Given the description of an element on the screen output the (x, y) to click on. 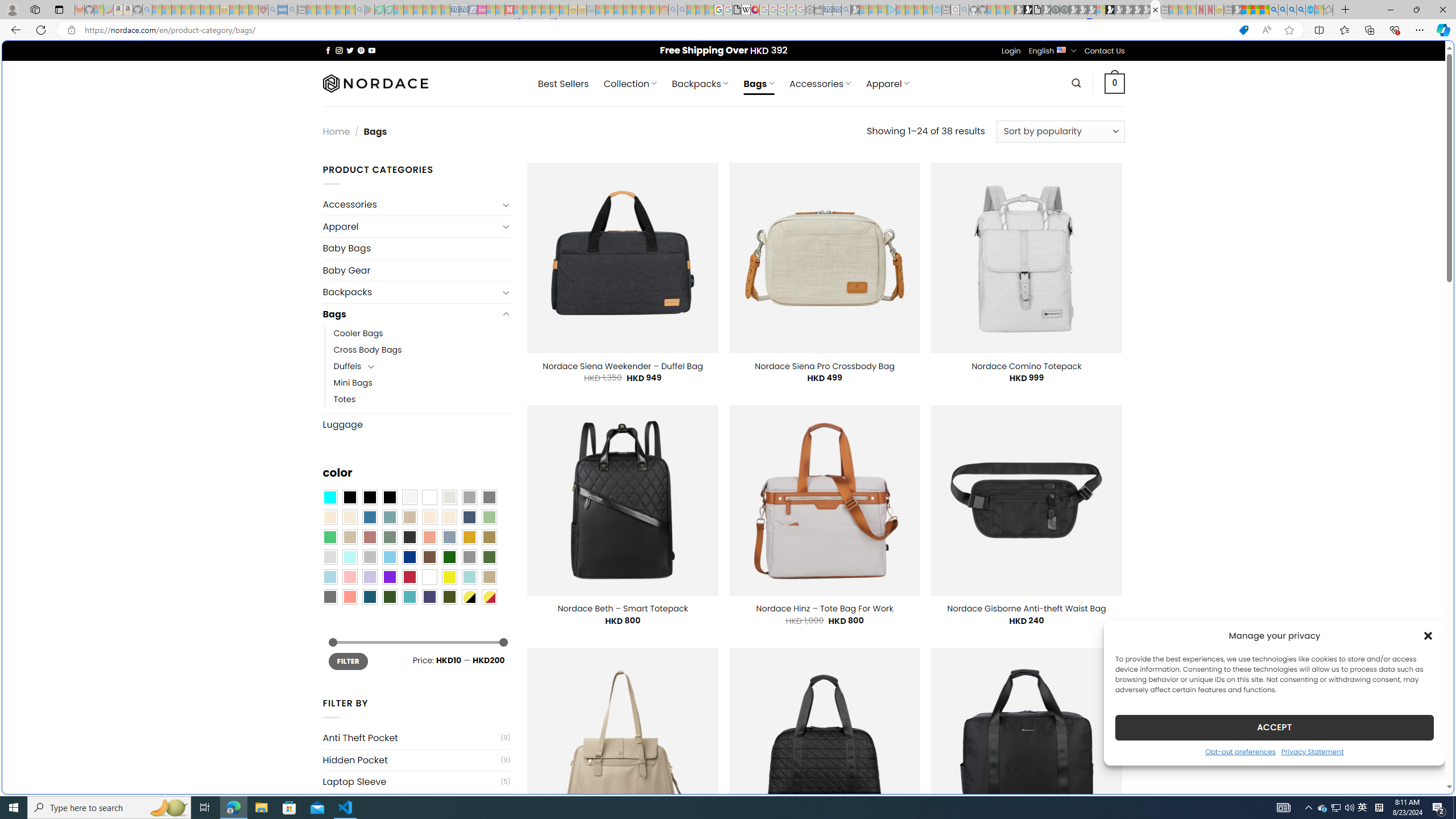
Teal (408, 596)
Mini Bags (422, 382)
Army Green (449, 596)
Class: cmplz-close (1428, 635)
Follow on Pinterest (360, 49)
USB Charging Port (410, 803)
Dull Nickle (329, 596)
Yellow (449, 577)
